Given the description of an element on the screen output the (x, y) to click on. 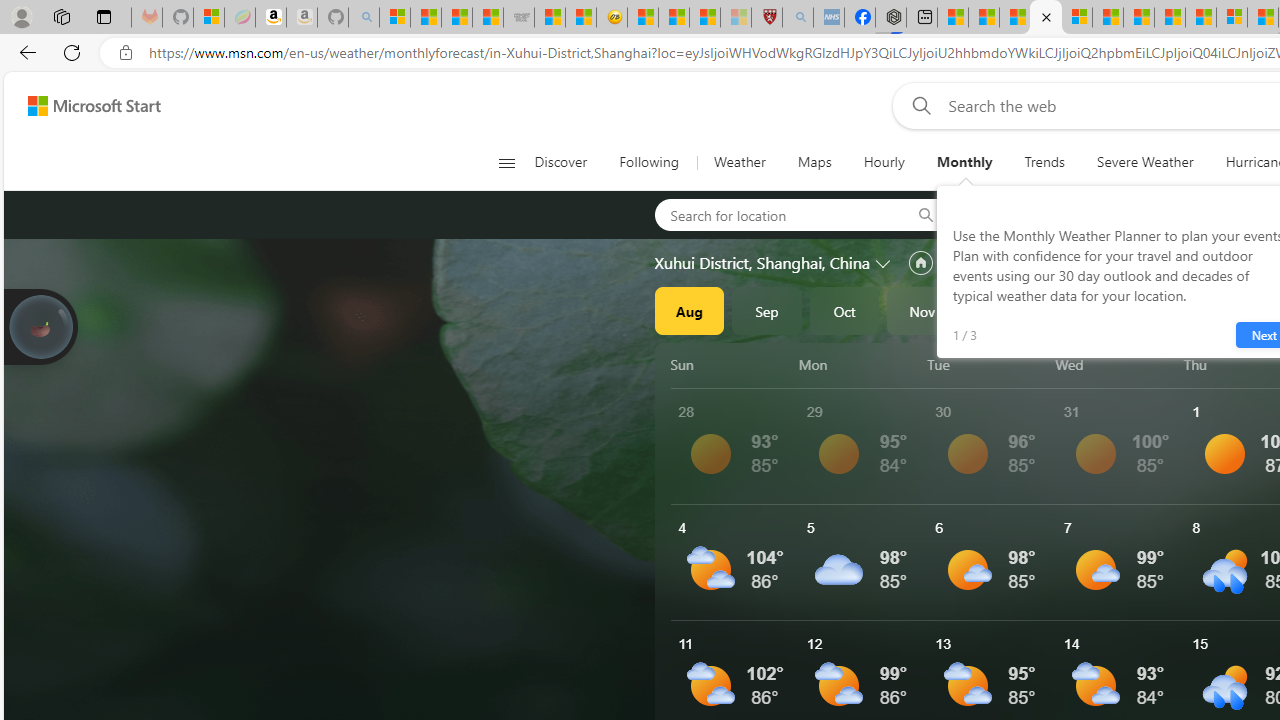
Feb (1155, 310)
12 Popular Science Lies that Must be Corrected - Sleeping (735, 17)
Robert H. Shmerling, MD - Harvard Health (766, 17)
Oct (844, 310)
Open navigation menu (506, 162)
Trends (1044, 162)
Sun (731, 363)
Feb (1155, 310)
